Given the description of an element on the screen output the (x, y) to click on. 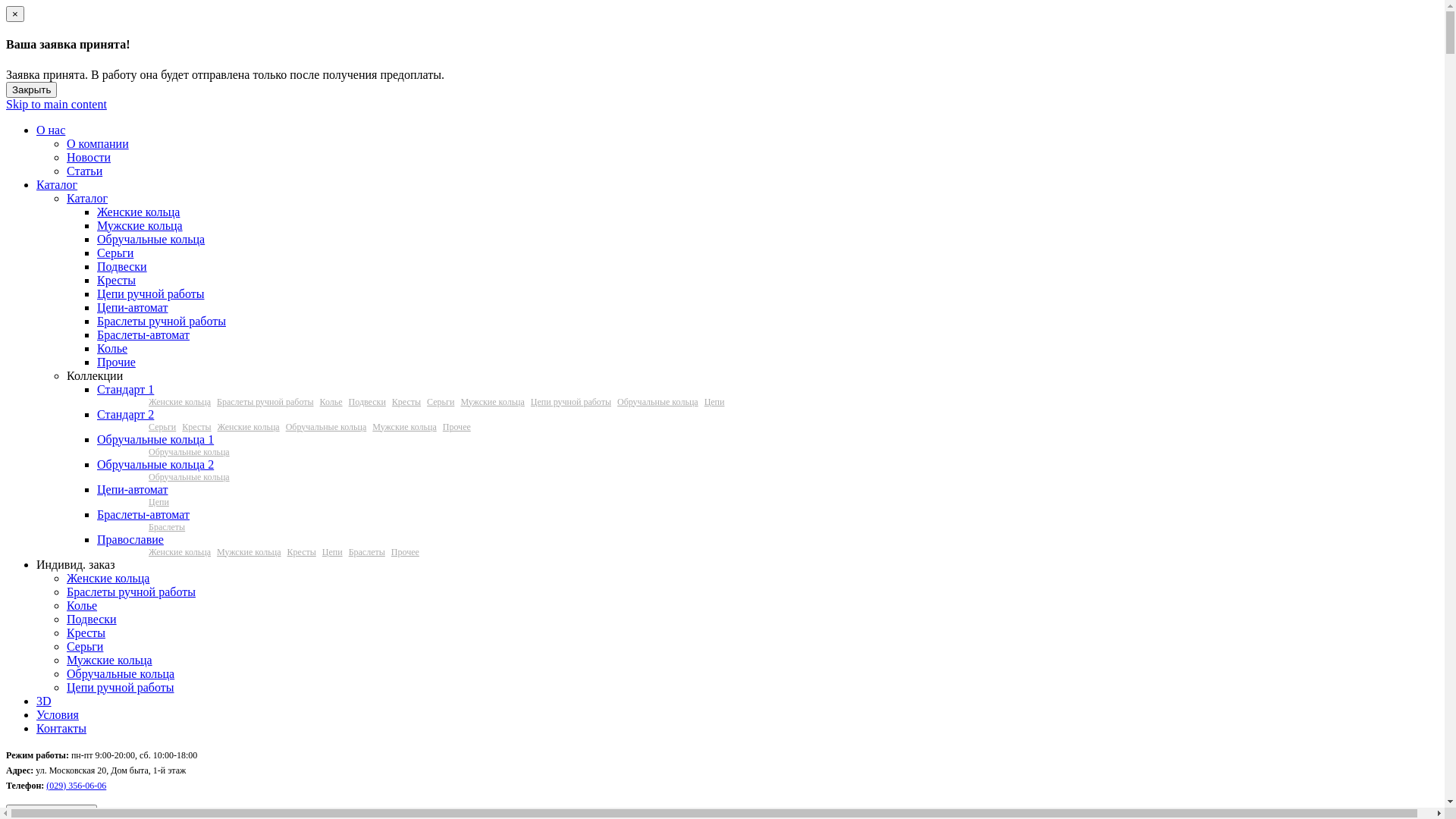
3D Element type: text (43, 700)
(029) 356-06-06 Element type: text (76, 785)
Skip to main content Element type: text (56, 103)
